Given the description of an element on the screen output the (x, y) to click on. 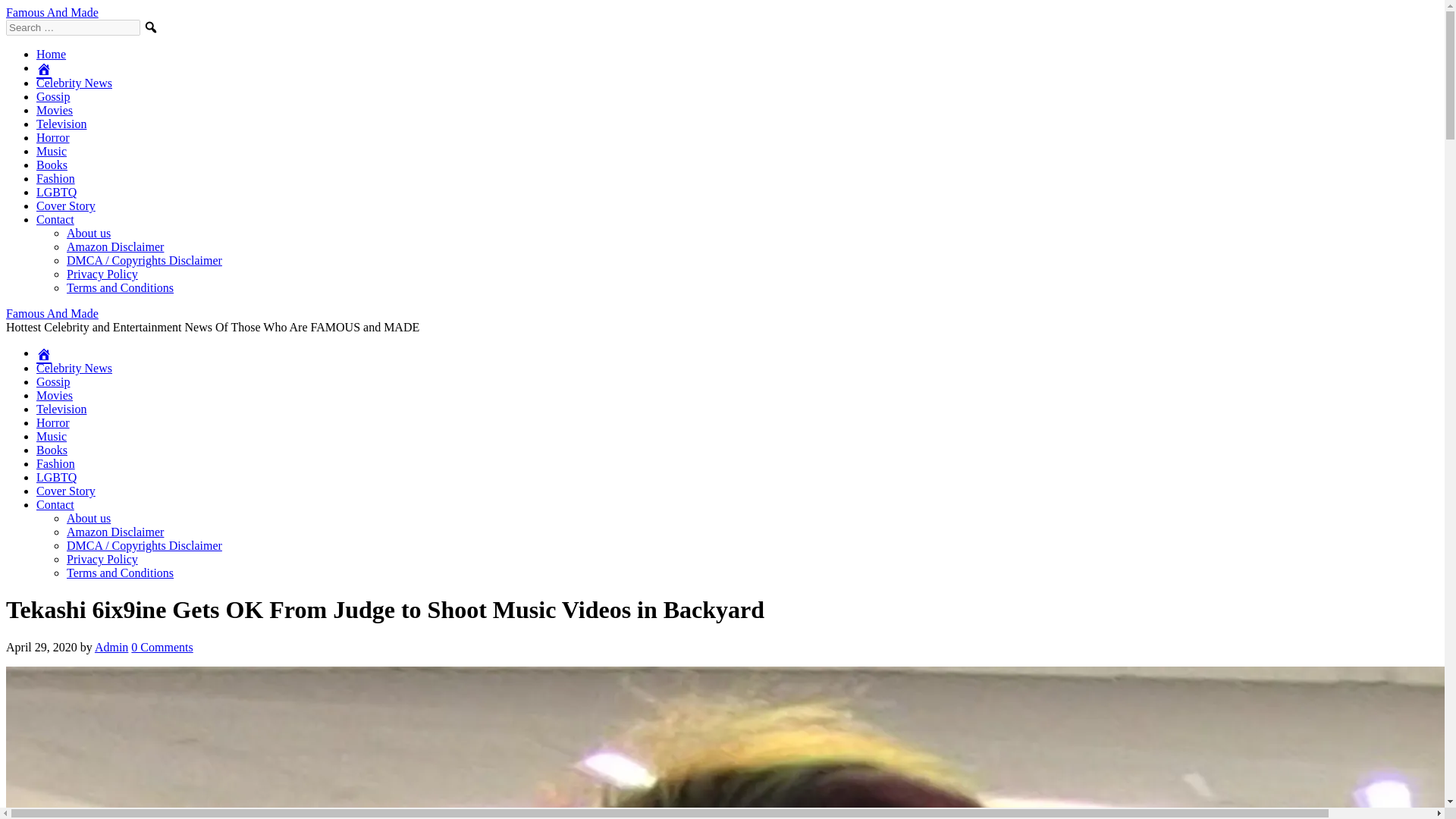
Music (51, 151)
Gossip (52, 381)
Privacy Policy (102, 273)
Famous And Made (52, 313)
Music (51, 436)
Movies (54, 110)
Celebrity News (74, 82)
Terms and Conditions (119, 287)
Horror (52, 137)
